Given the description of an element on the screen output the (x, y) to click on. 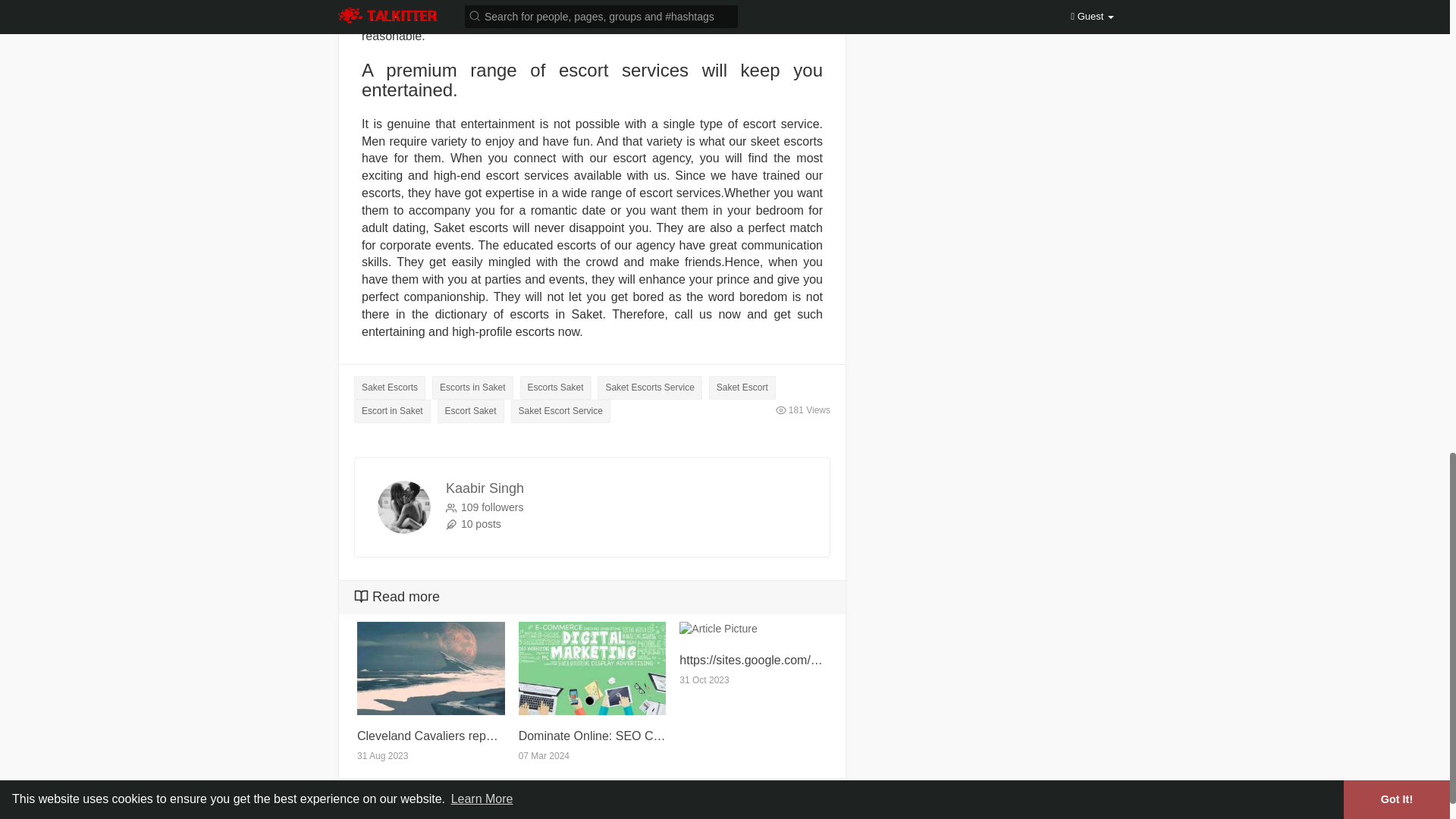
Saket Escorts Service (648, 387)
Escorts Saket (555, 387)
Kaabir Singh (484, 488)
Saket Escort Service (560, 411)
Escort in Saket (391, 411)
Saket Escort (742, 387)
Escort Saket (470, 411)
Escorts in Saket (472, 387)
Saket Escorts (389, 387)
